Given the description of an element on the screen output the (x, y) to click on. 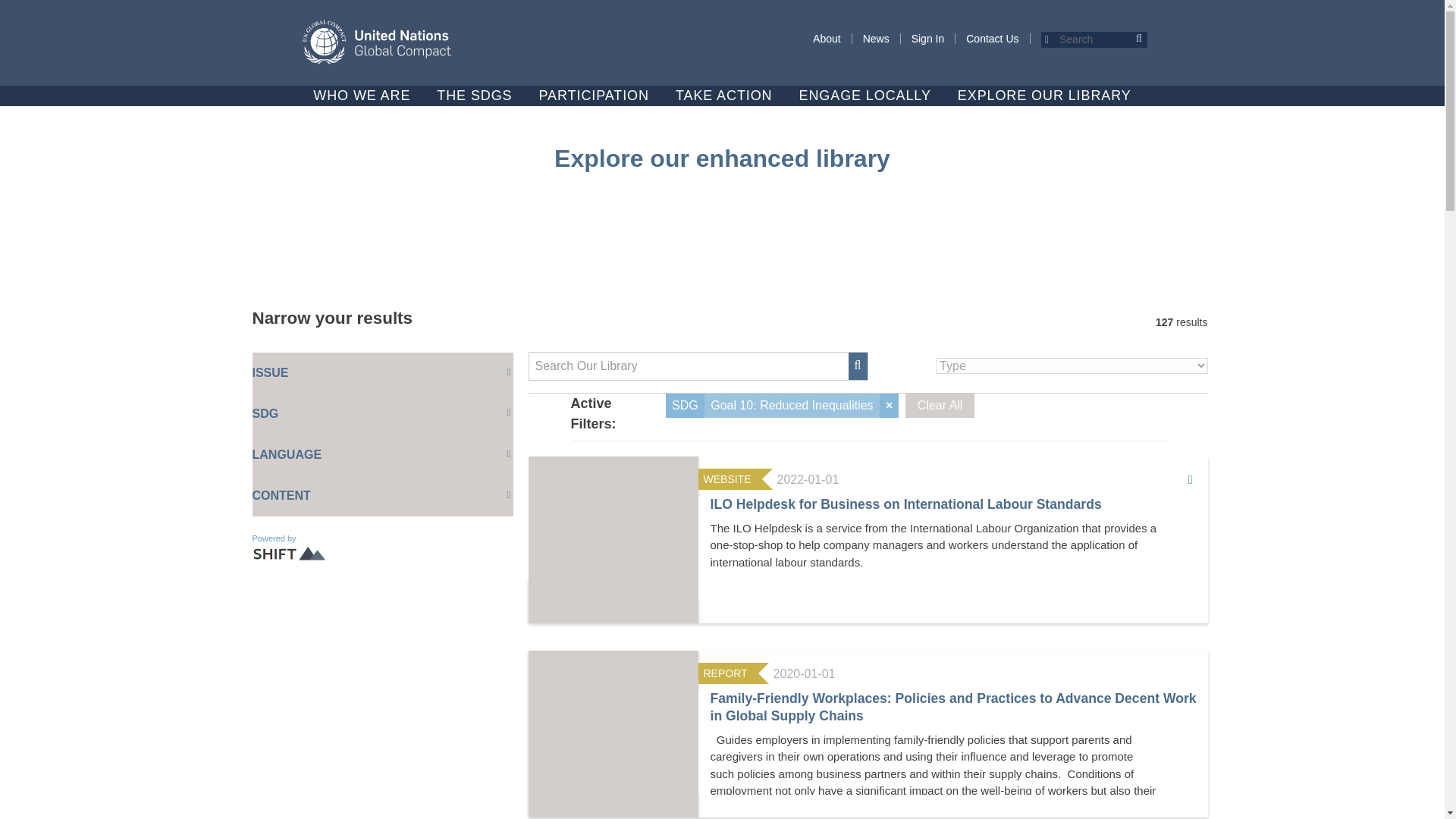
THE SDGS (474, 95)
translation missing: en.website (727, 479)
About (826, 38)
Contact Us (992, 38)
Clear All (940, 405)
PARTICIPATION (594, 95)
CONTENT (381, 495)
Powered by (290, 548)
